Given the description of an element on the screen output the (x, y) to click on. 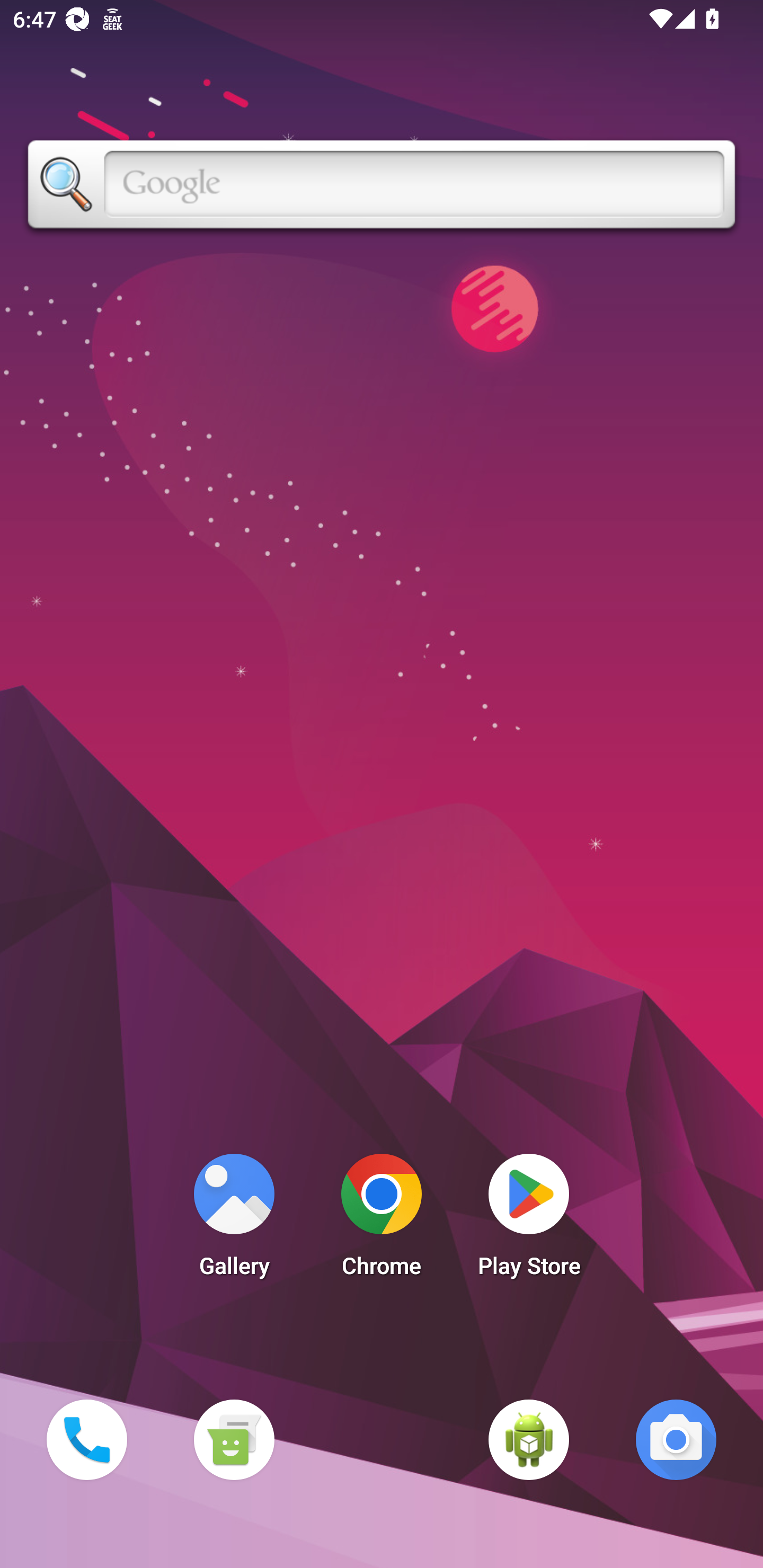
Gallery (233, 1220)
Chrome (381, 1220)
Play Store (528, 1220)
Phone (86, 1439)
Messaging (233, 1439)
WebView Browser Tester (528, 1439)
Camera (676, 1439)
